Given the description of an element on the screen output the (x, y) to click on. 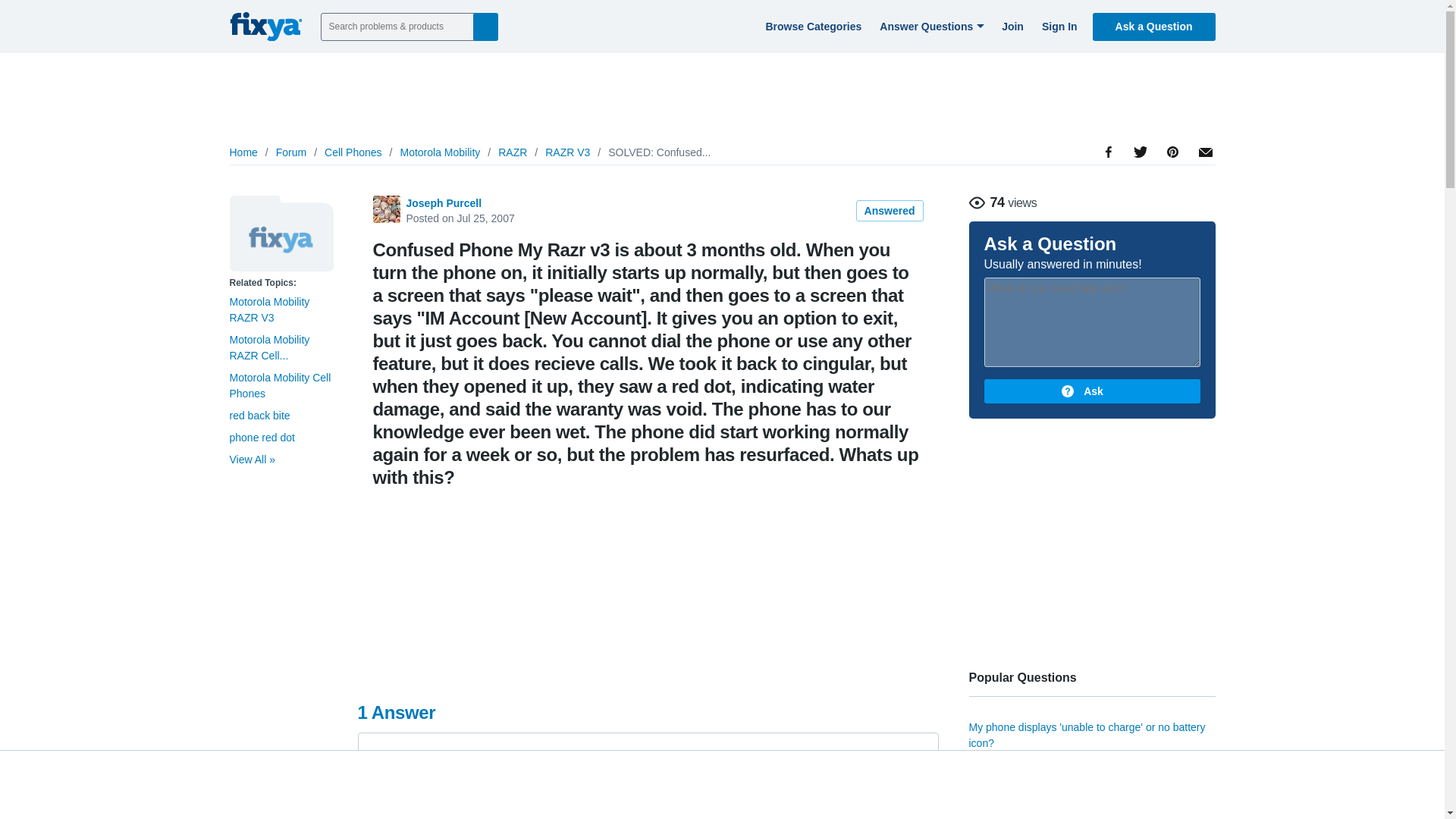
Search Fixya (485, 26)
Home (242, 152)
Motorola Mobility RAZR V3 (280, 233)
RAZR V3 (566, 152)
Sign In (1056, 26)
Motorola Mobility RAZR V3 (268, 309)
Forum (290, 152)
Ask (1091, 391)
RAZR (512, 152)
phone red dot (261, 437)
Ask a Question (1154, 26)
Search Fixya (485, 26)
Search Fixya (485, 26)
Cell Phones (352, 152)
Motorola Mobility RAZR Cell... (268, 347)
